Given the description of an element on the screen output the (x, y) to click on. 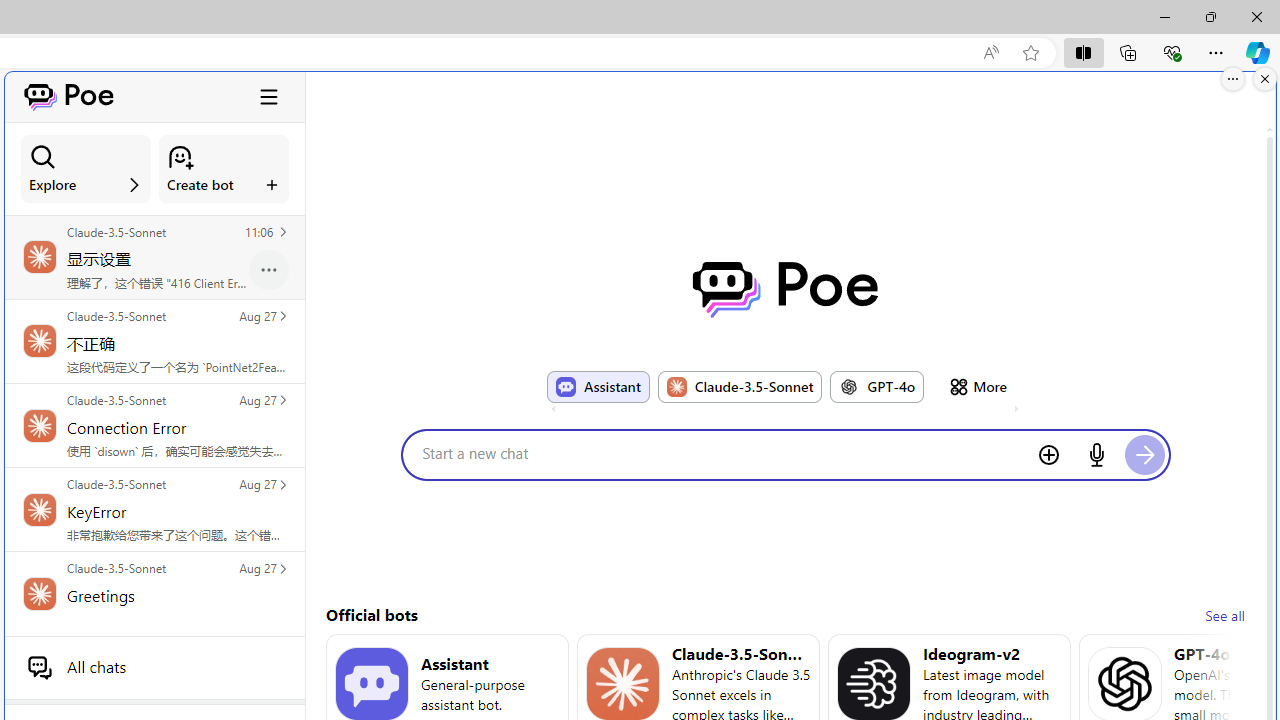
More actions (269, 269)
See all (1224, 615)
Bot image for Ideogram-v2 (874, 683)
Start a new chat (721, 453)
All chats (154, 667)
Toggle sidebar collapse (269, 96)
Class: ToggleSidebarCollapseButton_hamburgerIcon__VuiyV (269, 96)
Bot image for Assistant (371, 683)
